Given the description of an element on the screen output the (x, y) to click on. 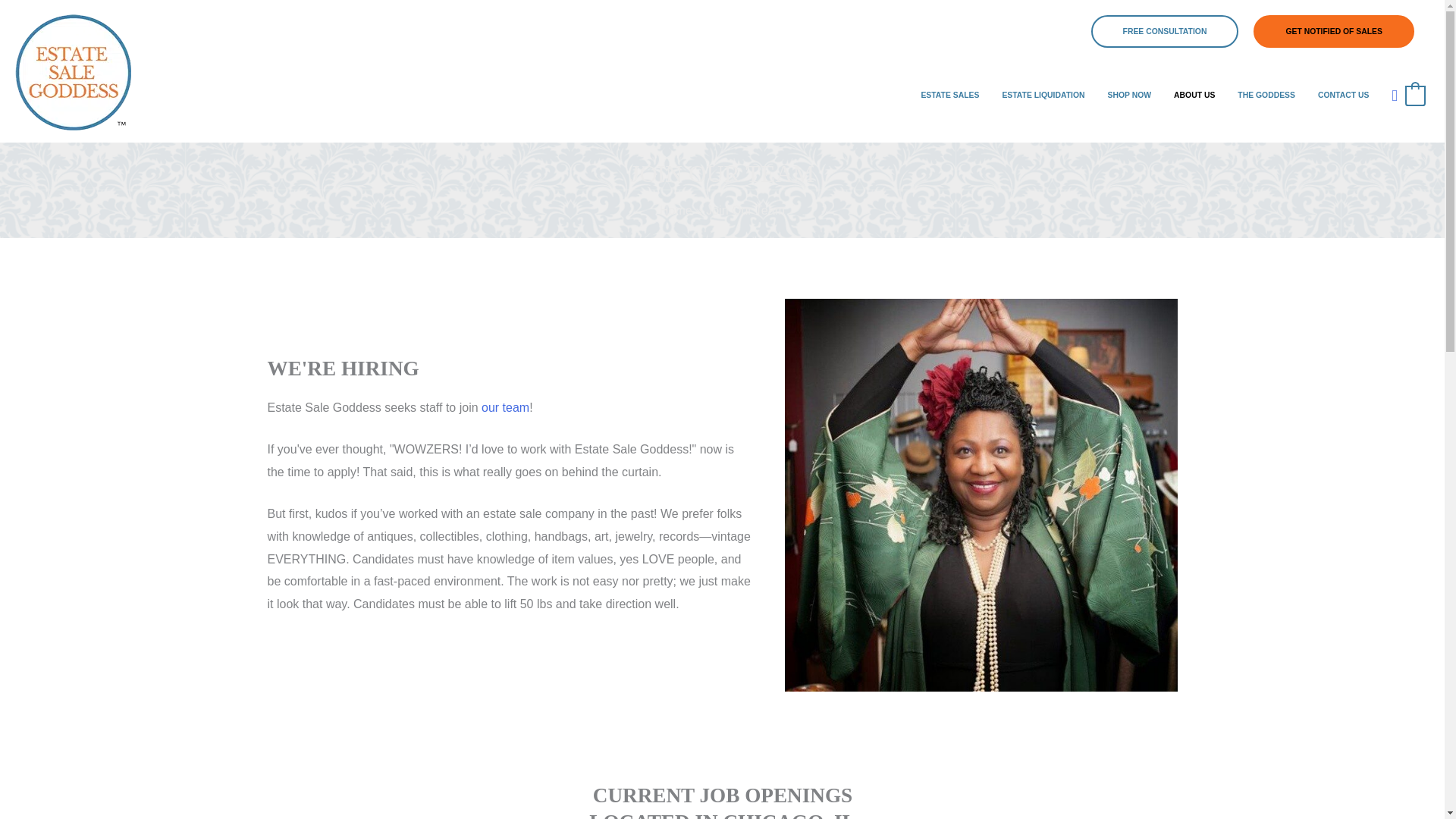
ABOUT US (1193, 94)
CONTACT US (1343, 94)
GET NOTIFIED OF SALES (1333, 31)
ESTATE LIQUIDATION (1043, 94)
THE GODDESS (1265, 94)
ESTATE SALES (949, 94)
SHOP NOW (1129, 94)
FREE CONSULTATION (1164, 31)
0 (1415, 94)
